Given the description of an element on the screen output the (x, y) to click on. 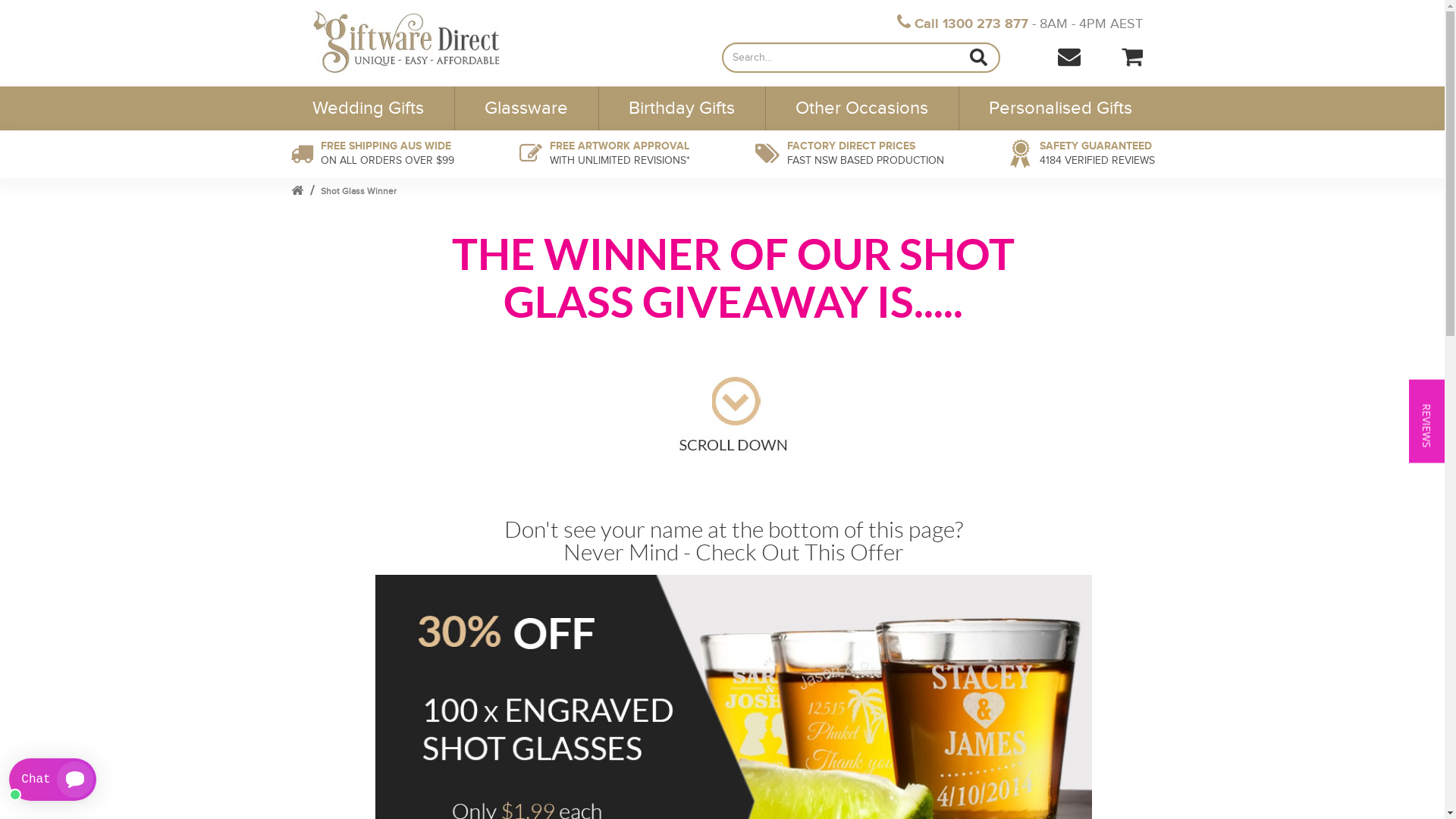
Return to Home Element type: hover (296, 191)
View my shopping cart Element type: hover (1131, 56)
Personalised Gifts Element type: text (1056, 108)
FACTORY DIRECT PRICES
FAST NSW BASED PRODUCTION Element type: text (849, 154)
Smartsupp widget button Element type: hover (52, 779)
FREE SHIPPING AUS WIDE
ON ALL ORDERS OVER $99 Element type: text (371, 154)
Call 1300 273 877 Element type: text (962, 23)
Other Occasions Element type: text (861, 108)
Giftware Direct Element type: hover (426, 41)
Log in to your customer account Element type: hover (1102, 54)
Birthday Gifts Element type: text (682, 108)
Wedding Gifts Element type: text (371, 108)
Glassware Element type: text (526, 108)
SAFETY GUARANTEED
4184 VERIFIED REVIEWS Element type: text (1081, 154)
FREE ARTWORK APPROVAL
WITH UNLIMITED REVISIONS* Element type: text (603, 154)
